Given the description of an element on the screen output the (x, y) to click on. 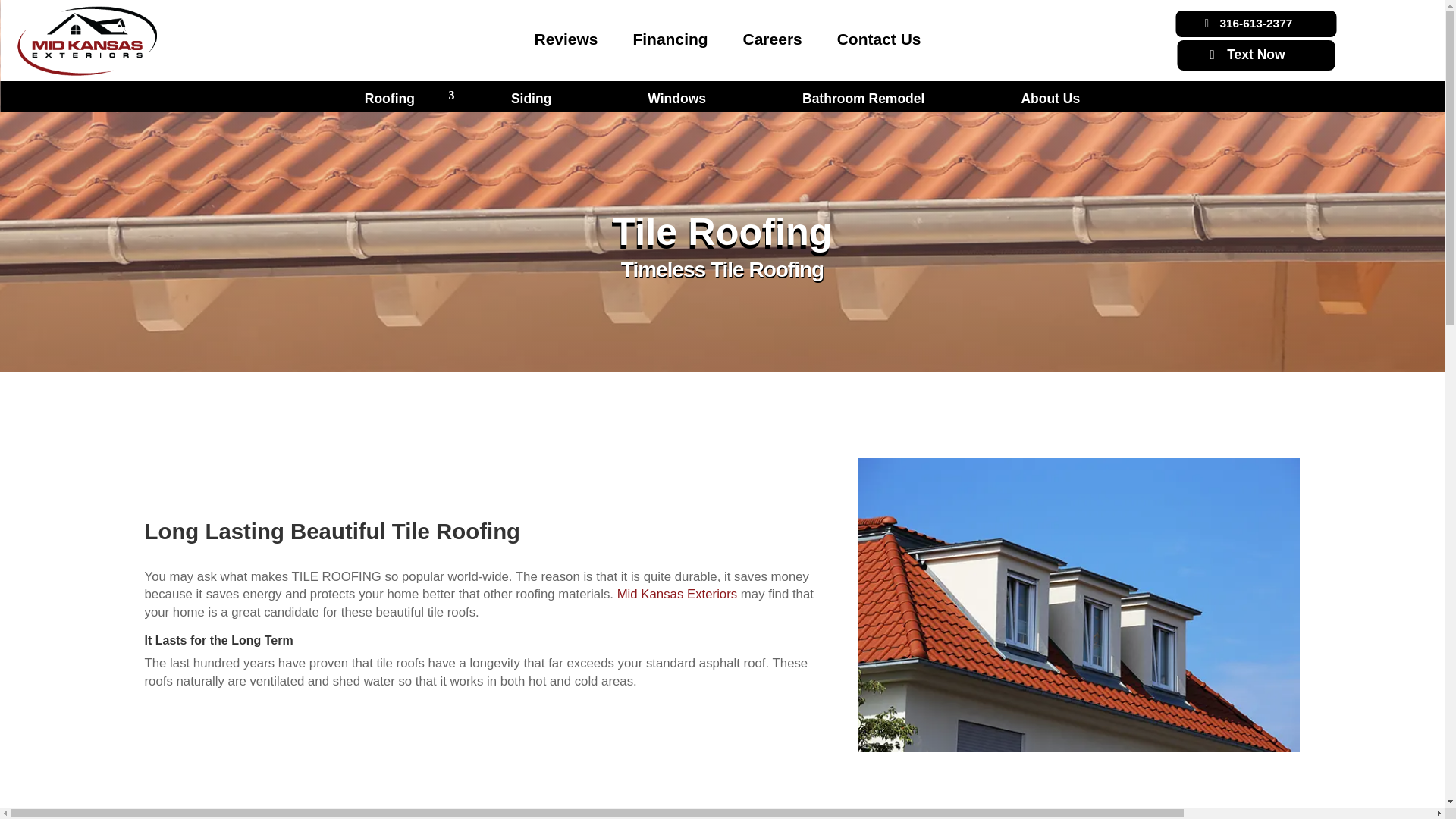
Contact Us (879, 38)
Windows (676, 98)
Careers (772, 38)
Mid Kansas Exteriors (677, 594)
Mid-Kansas-Exteriors-logo (85, 40)
Reviews (565, 38)
tile-roofing1 (1079, 604)
About Us (1050, 98)
Financing (669, 38)
Roofing (389, 98)
Text Now (1255, 55)
Bathroom Remodel (862, 98)
316-613-2377 (1256, 23)
Siding (530, 98)
